Given the description of an element on the screen output the (x, y) to click on. 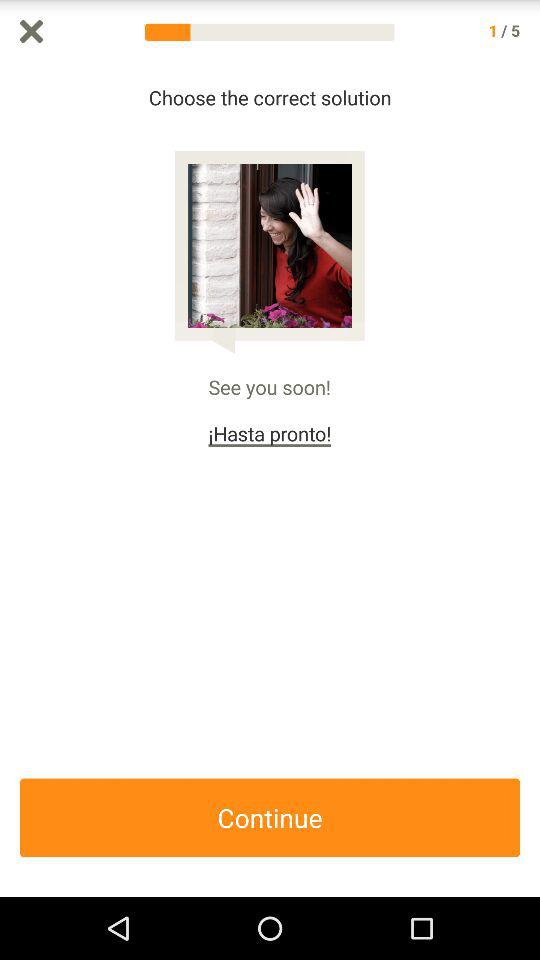
tap item next to continue icon (530, 480)
